Given the description of an element on the screen output the (x, y) to click on. 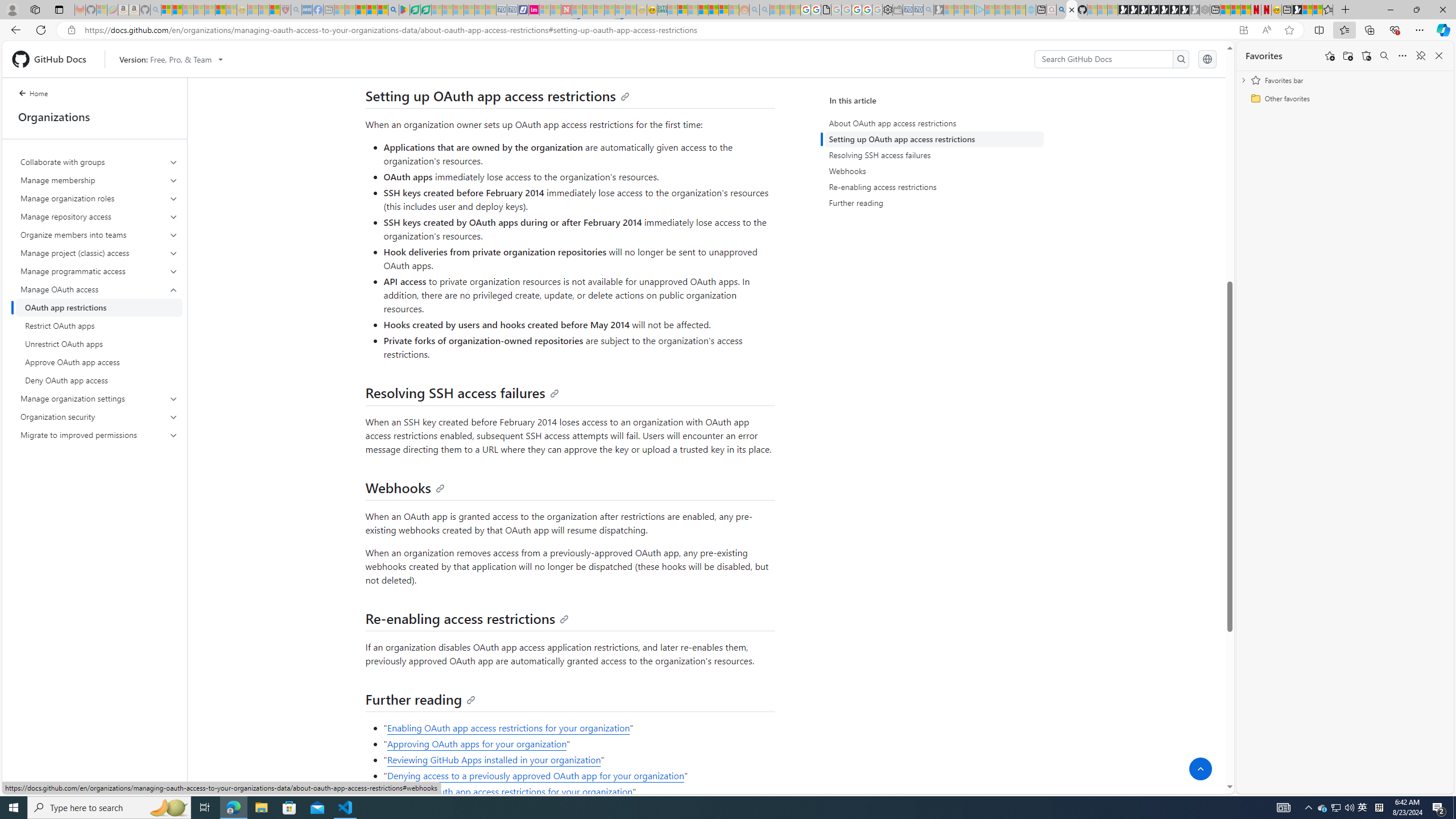
OAuth app restrictions (99, 307)
github - Search (1061, 9)
Unrestrict OAuth apps (99, 343)
Re-enabling access restrictions (933, 186)
